Given the description of an element on the screen output the (x, y) to click on. 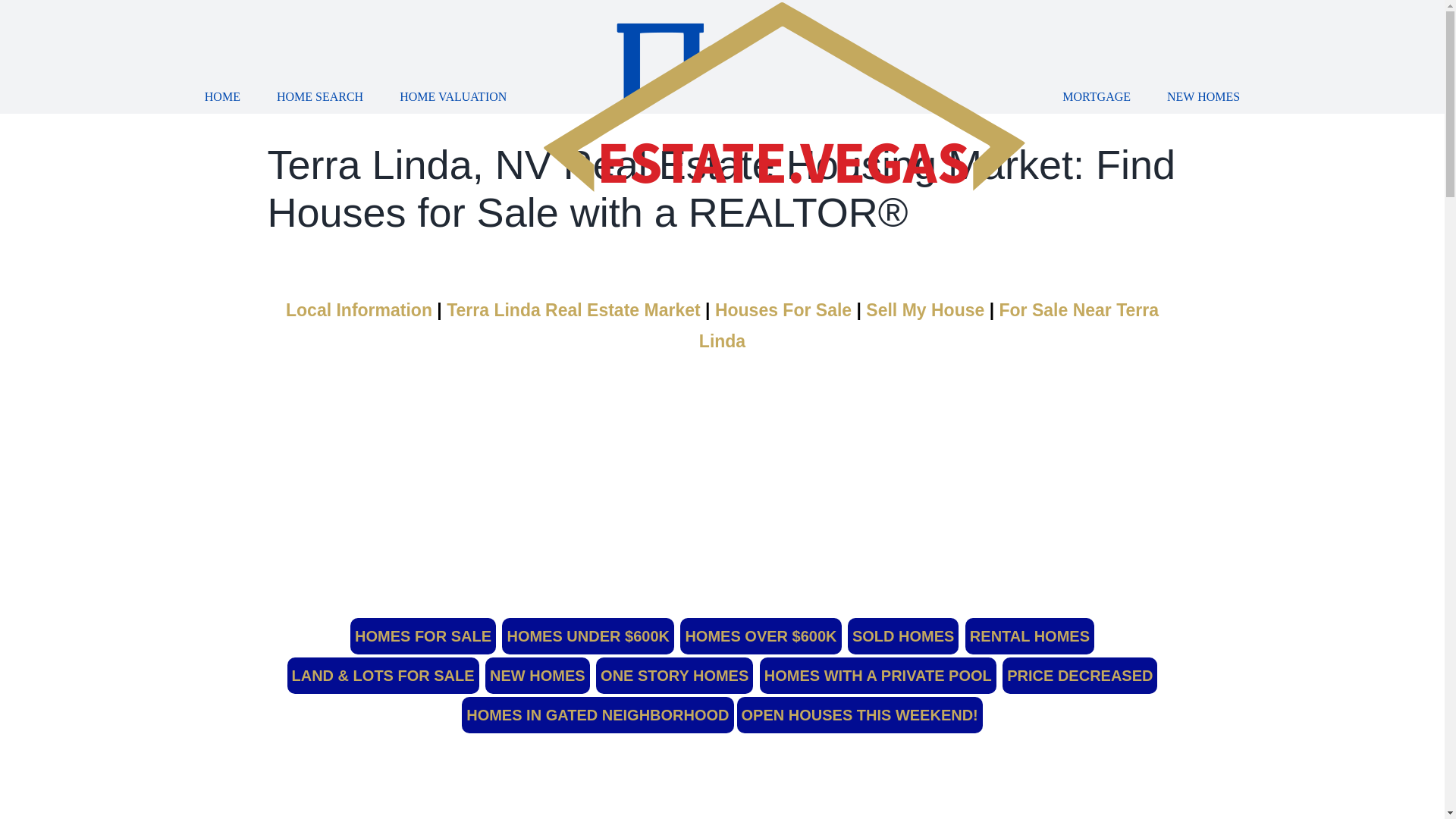
Land and Lots For Sale in Terra Linda (382, 675)
HOMES WITH A PRIVATE POOL (877, 675)
PRICE DECREASED (1080, 675)
Houses For Sale Close to Terra Linda (928, 325)
All Homes For Sale in Terra Linda (423, 636)
HOMES IN GATED NEIGHBORHOOD (597, 714)
Local Information (503, 325)
NEW HOMES (1203, 96)
MORTGAGE (1096, 96)
